Given the description of an element on the screen output the (x, y) to click on. 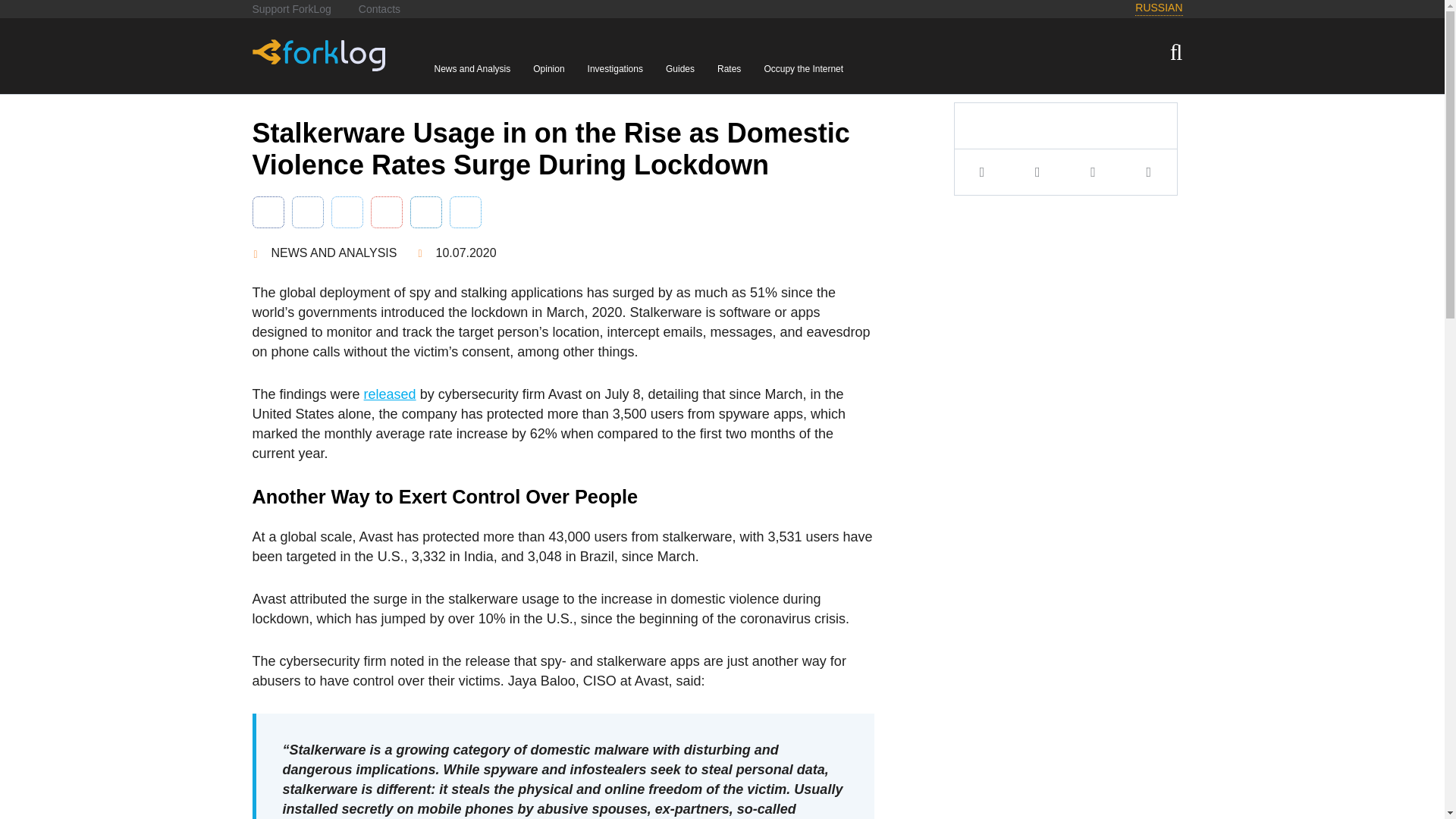
Search (21, 7)
Rates (729, 57)
News and Analysis (472, 57)
Opinion (548, 57)
Occupy the Internet (802, 57)
Support ForkLog (290, 9)
NEWS AND ANALYSIS (323, 253)
Subscribe (28, 7)
Investigations (614, 57)
RUSSIAN (1158, 7)
